Given the description of an element on the screen output the (x, y) to click on. 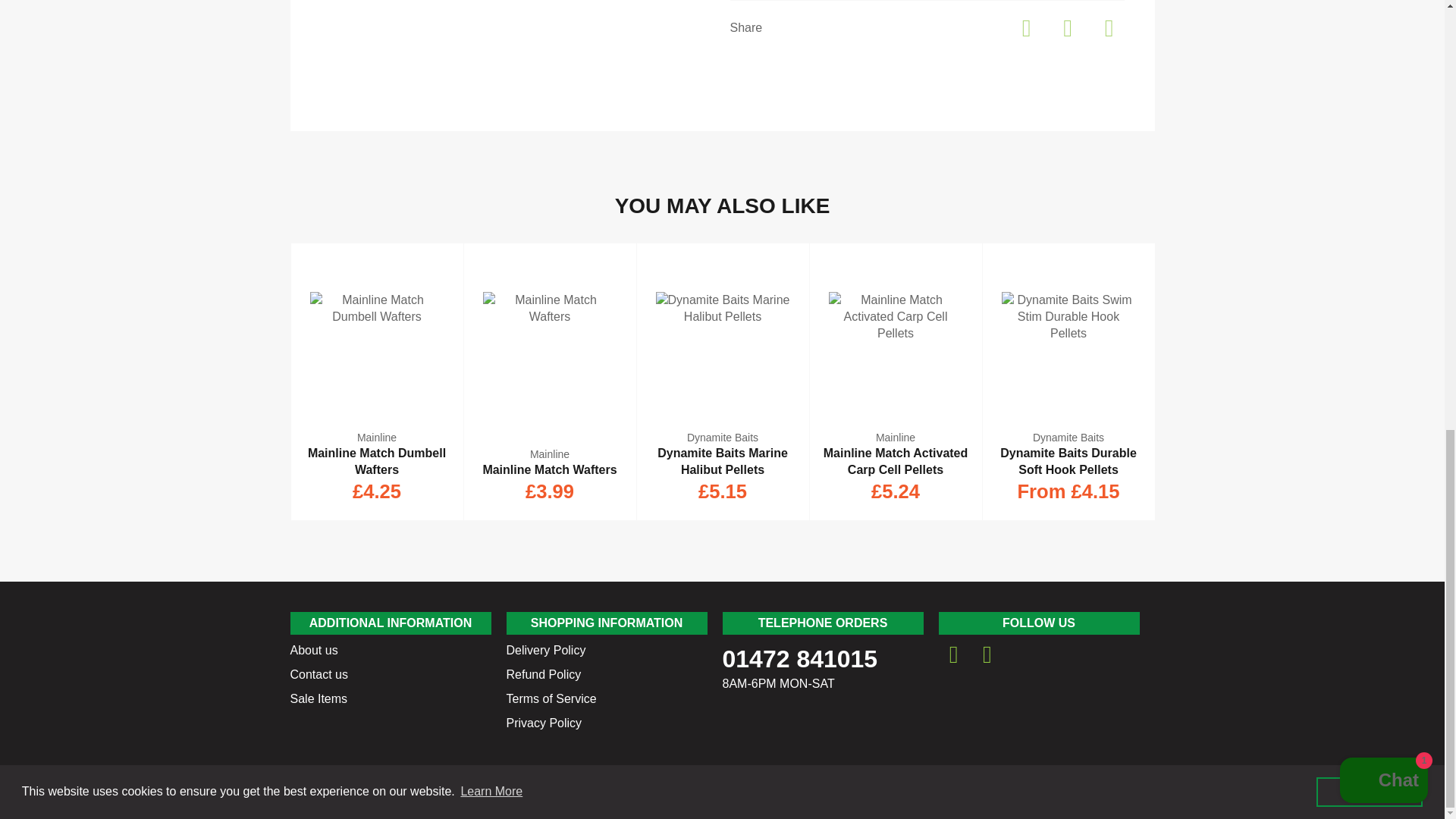
Advanced Angling Solutions on Facebook (954, 654)
Advanced Angling Solutions on Instagram (987, 654)
Pin on Pinterest (1108, 23)
Share on Facebook (1028, 23)
Tweet on Twitter (1069, 23)
